Given the description of an element on the screen output the (x, y) to click on. 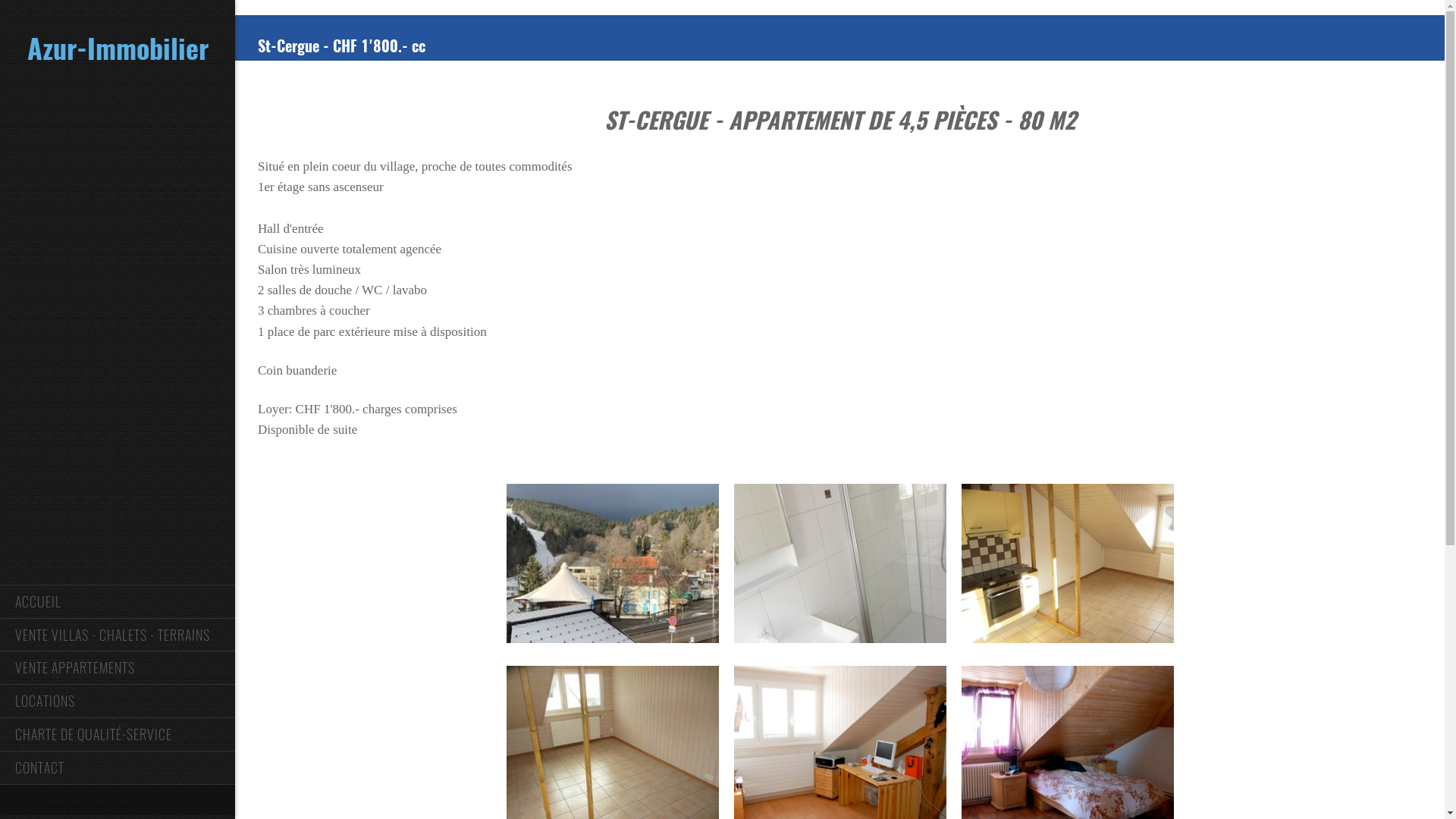
LOCATIONS Element type: text (117, 700)
ACCUEIL Element type: text (117, 601)
Azur-Immobilier Element type: text (117, 47)
VENTE VILLAS - CHALETS - TERRAINS Element type: text (117, 634)
VENTE APPARTEMENTS Element type: text (117, 667)
CONTACT Element type: text (117, 767)
